Given the description of an element on the screen output the (x, y) to click on. 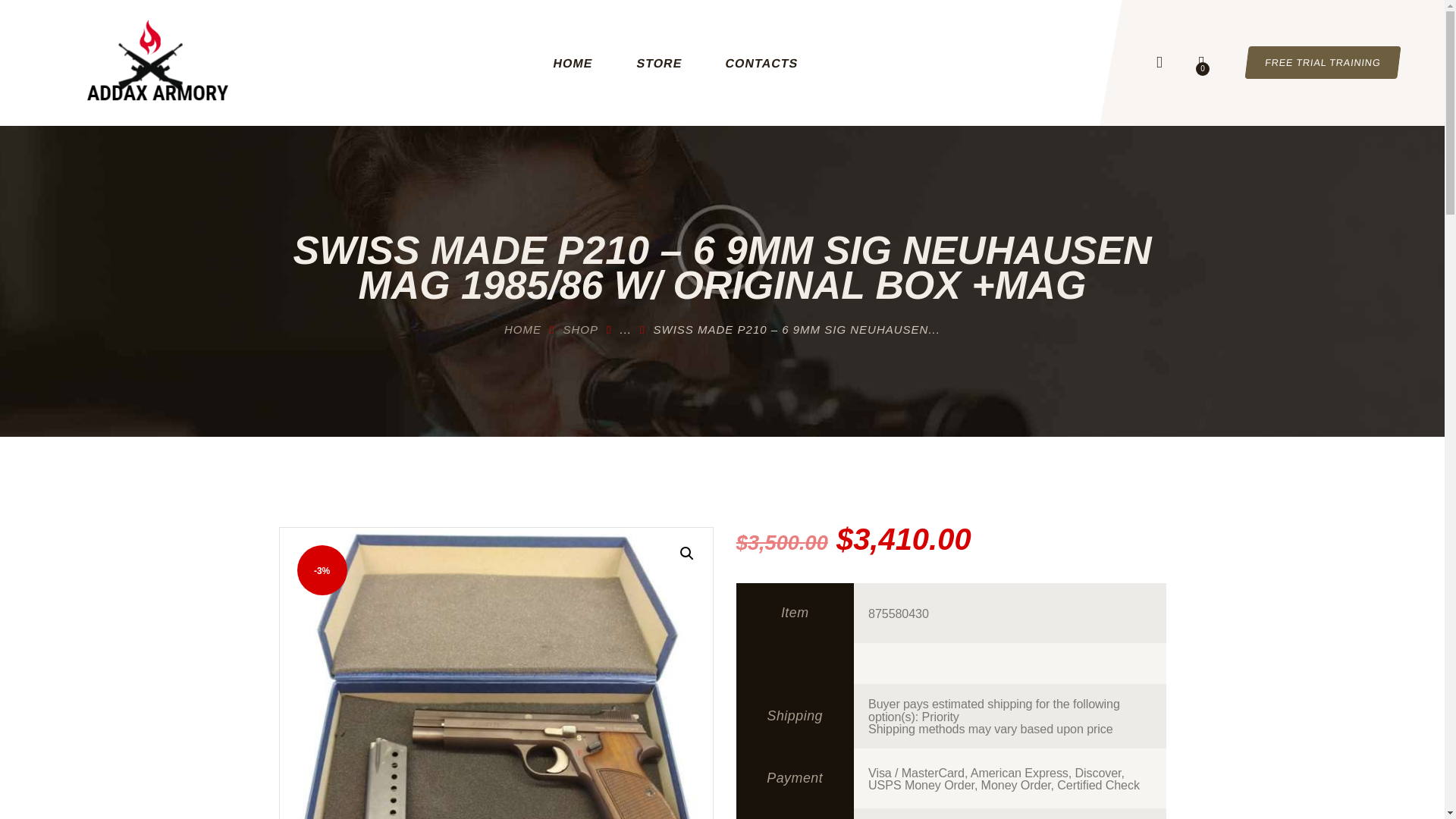
pix419594814.jpg (495, 673)
CONTACTS (752, 62)
FREE TRIAL TRAINING (1320, 61)
HOME (522, 329)
SHOP (580, 328)
